Given the description of an element on the screen output the (x, y) to click on. 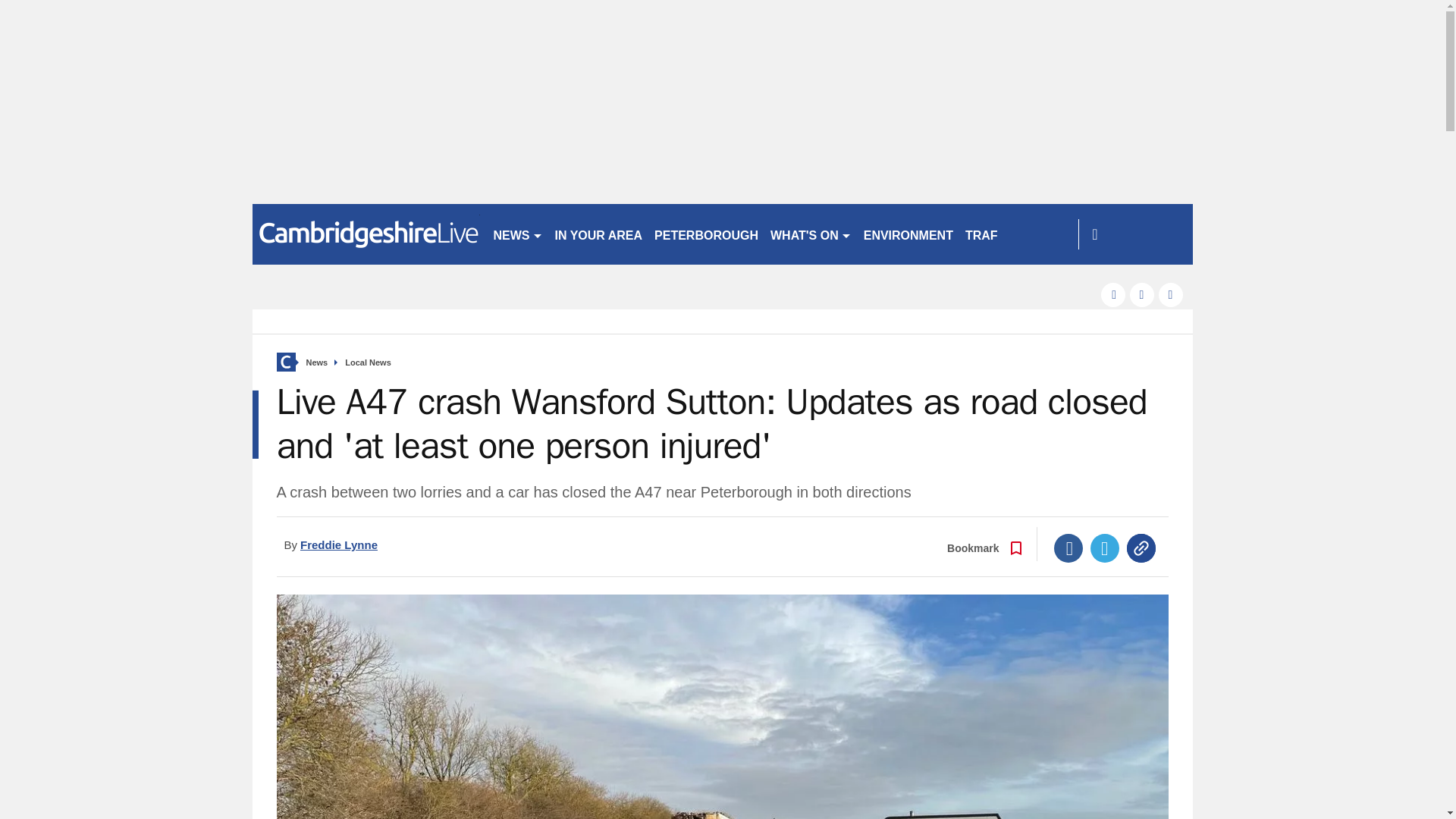
PETERBOROUGH (705, 233)
instagram (1170, 294)
Facebook (1068, 547)
NEWS (517, 233)
WHAT'S ON (810, 233)
twitter (1141, 294)
ENVIRONMENT (908, 233)
Twitter (1104, 547)
cambridgenews (365, 233)
IN YOUR AREA (598, 233)
facebook (1112, 294)
